Given the description of an element on the screen output the (x, y) to click on. 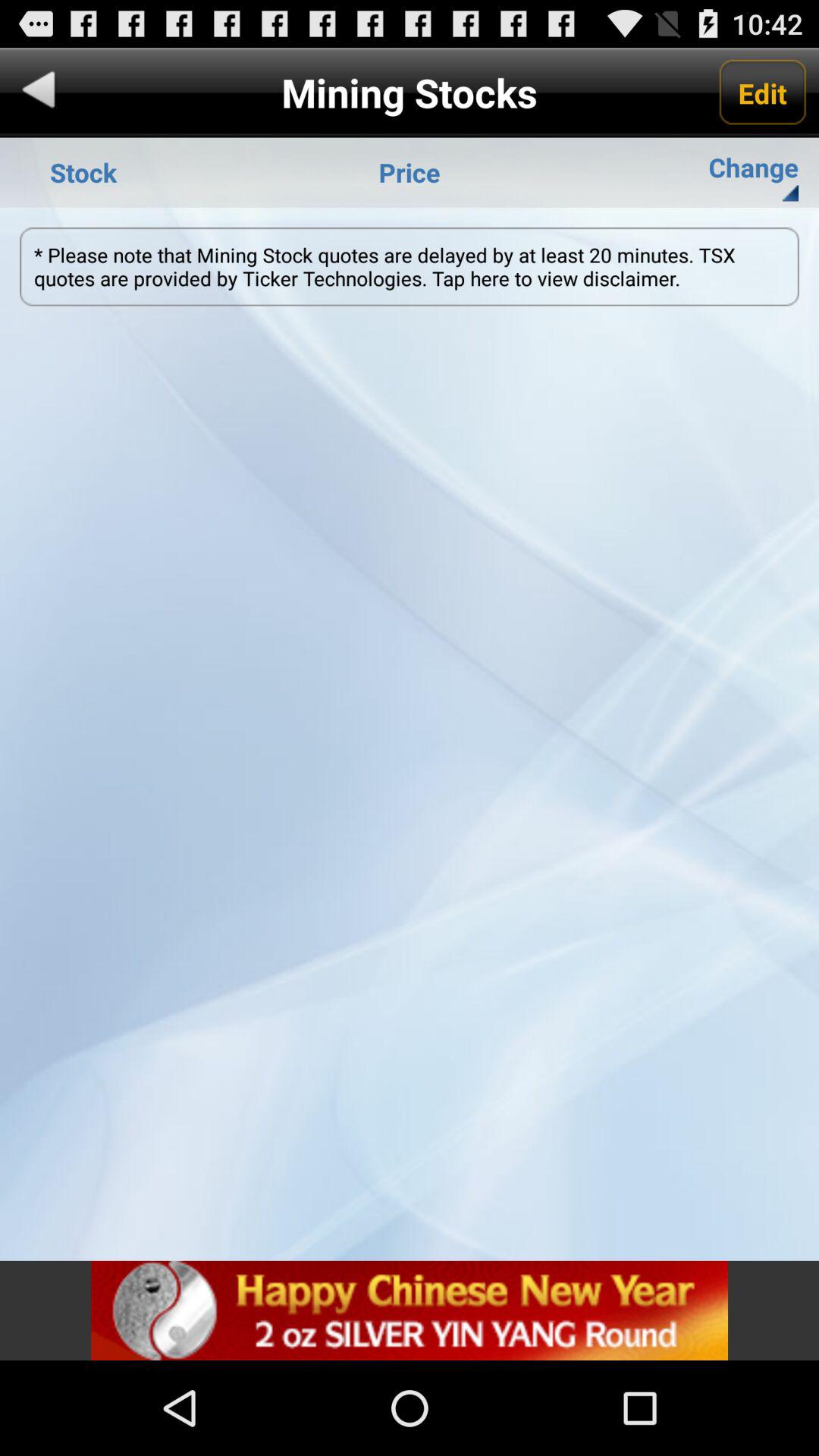
go to back (39, 92)
